Given the description of an element on the screen output the (x, y) to click on. 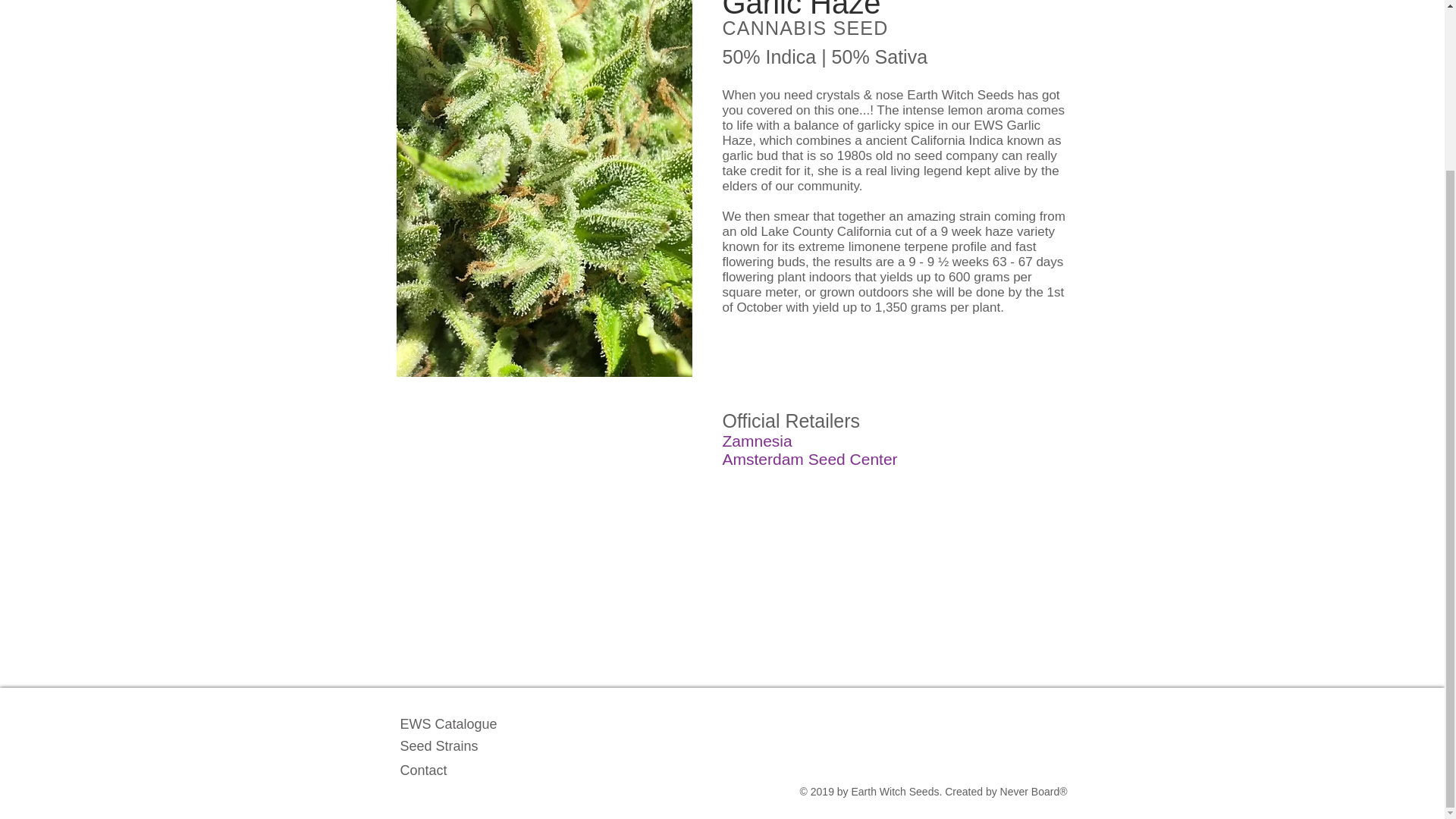
Contact (423, 770)
Zamnesia (757, 440)
Amsterdam Seed Center (809, 458)
EWS Catalogue (448, 724)
Seed Strains (439, 745)
